Given the description of an element on the screen output the (x, y) to click on. 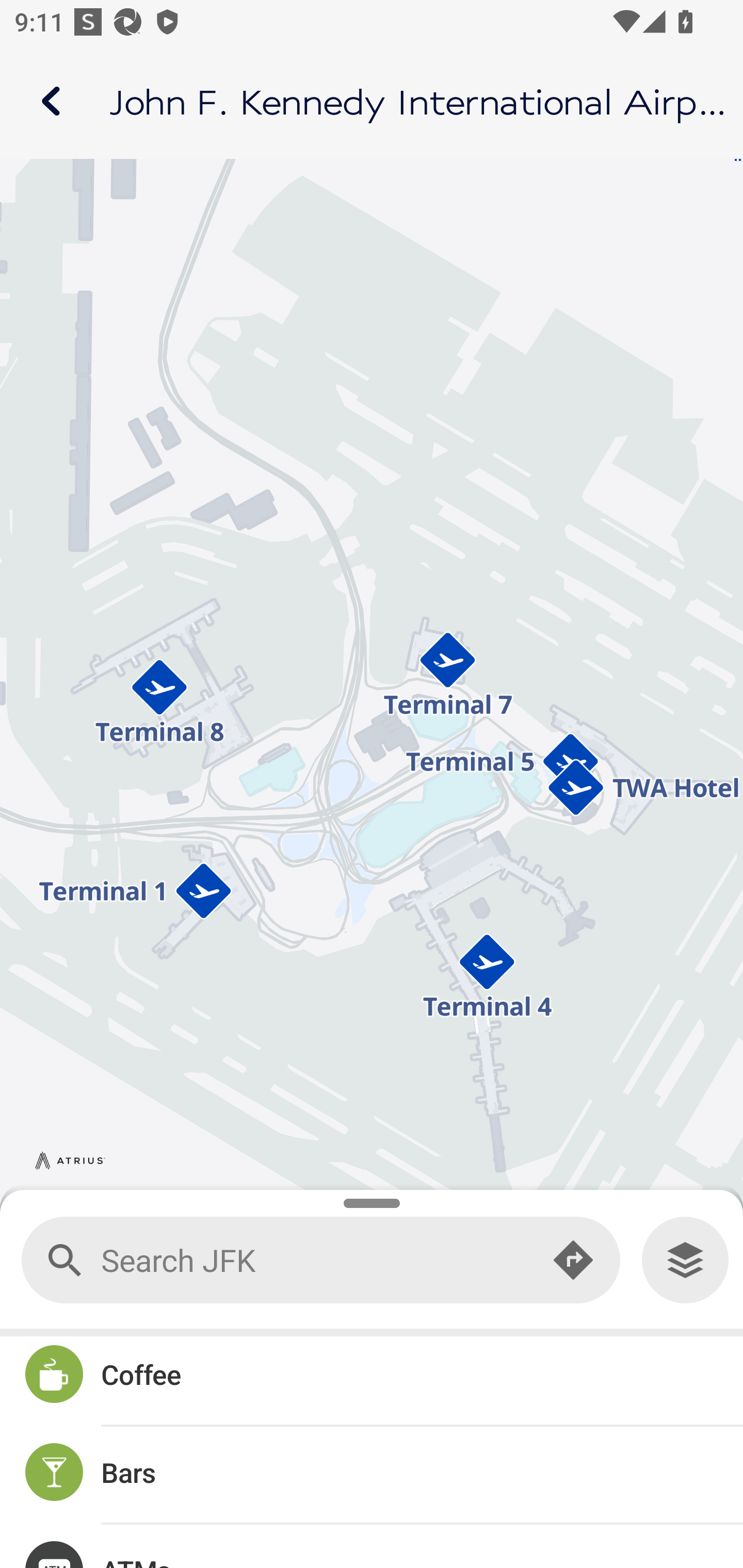
Airport map (371, 100)
Levels (684, 1259)
Directions (573, 1260)
Search for Search for Coffee (371, 1377)
Search for Search for Bars (371, 1475)
